Given the description of an element on the screen output the (x, y) to click on. 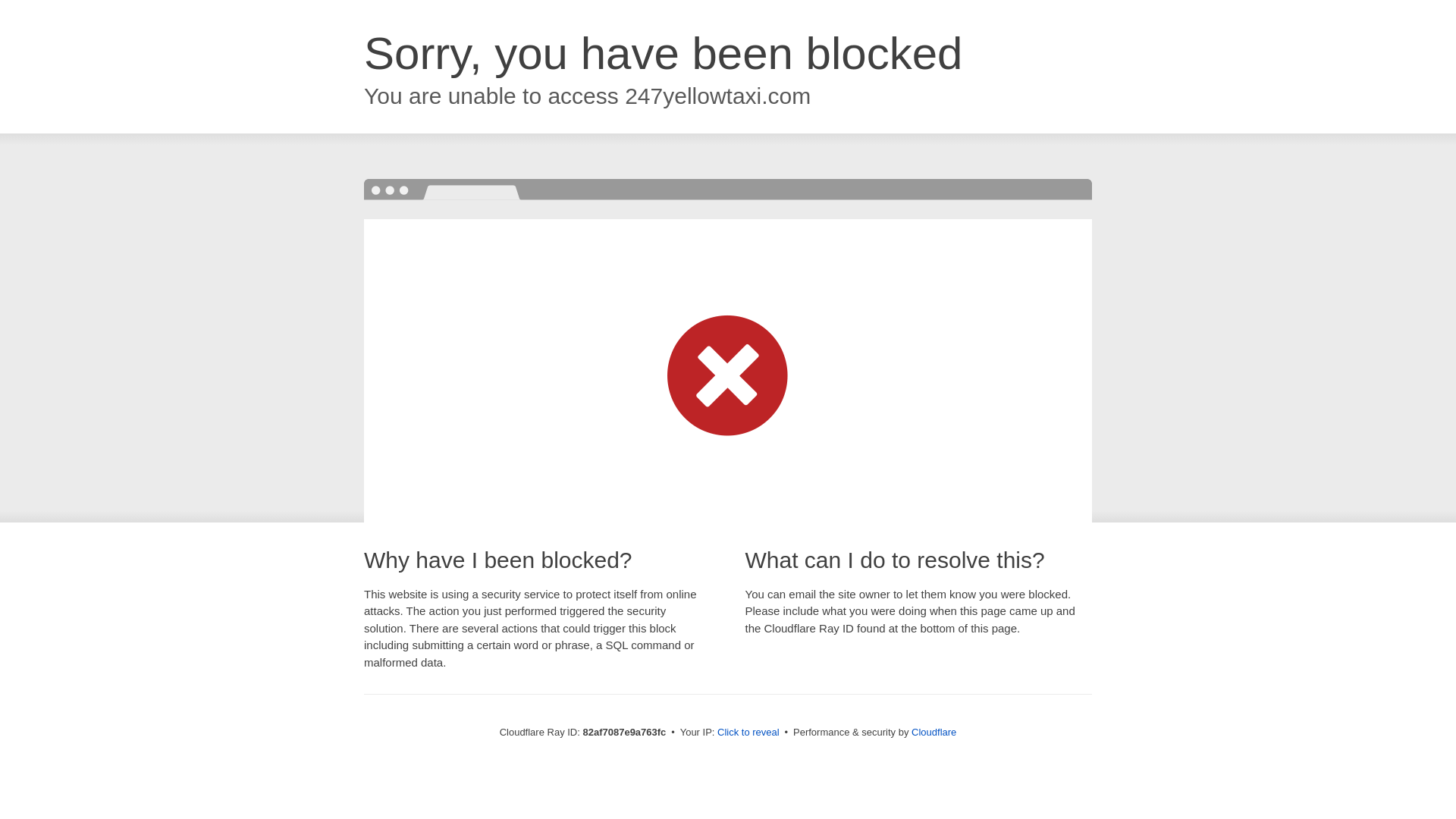
Click to reveal Element type: text (748, 732)
Cloudflare Element type: text (933, 731)
